Given the description of an element on the screen output the (x, y) to click on. 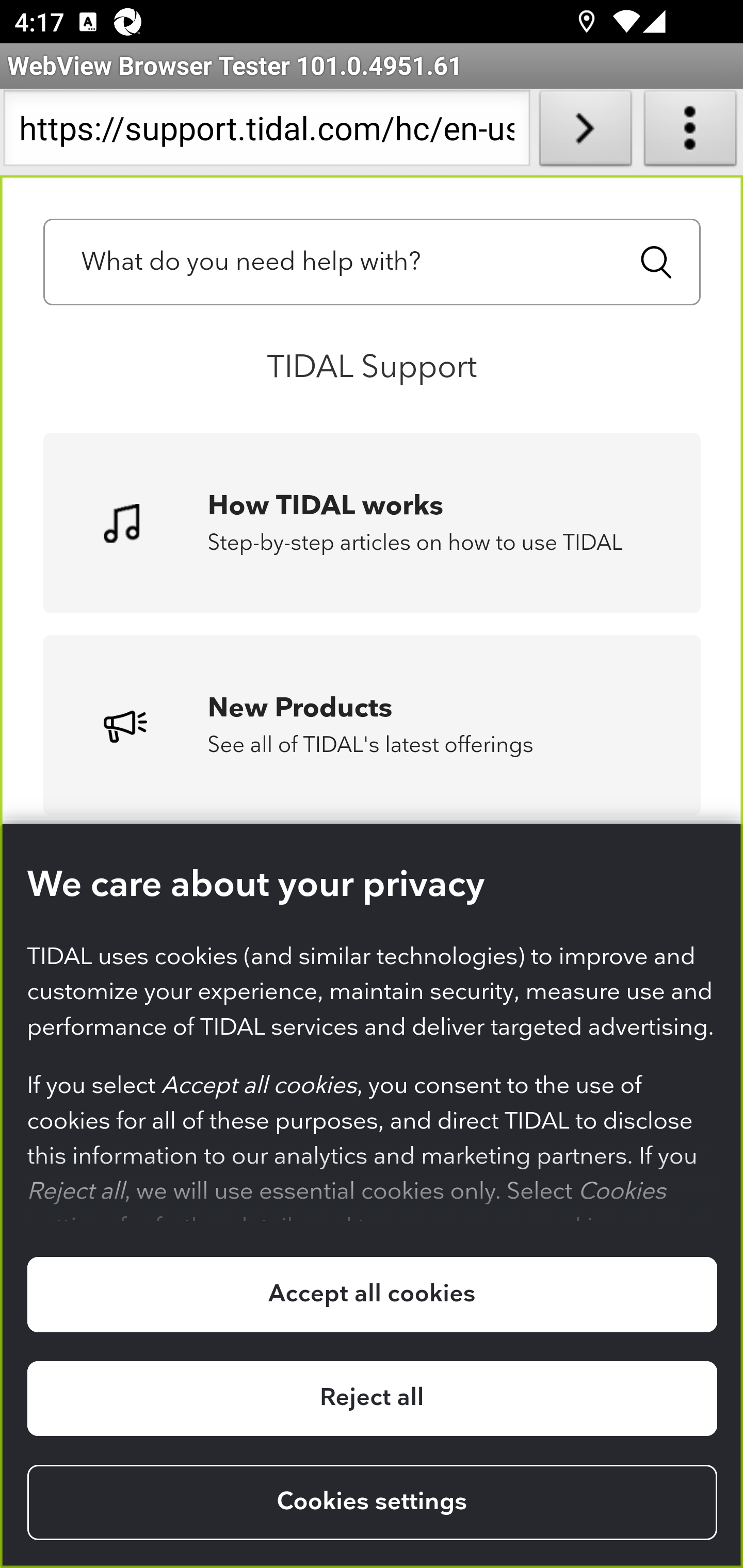
Load URL (585, 132)
About WebView (690, 132)
Accept all cookies (371, 1293)
Reject all (371, 1397)
Cookies settings (371, 1502)
